Given the description of an element on the screen output the (x, y) to click on. 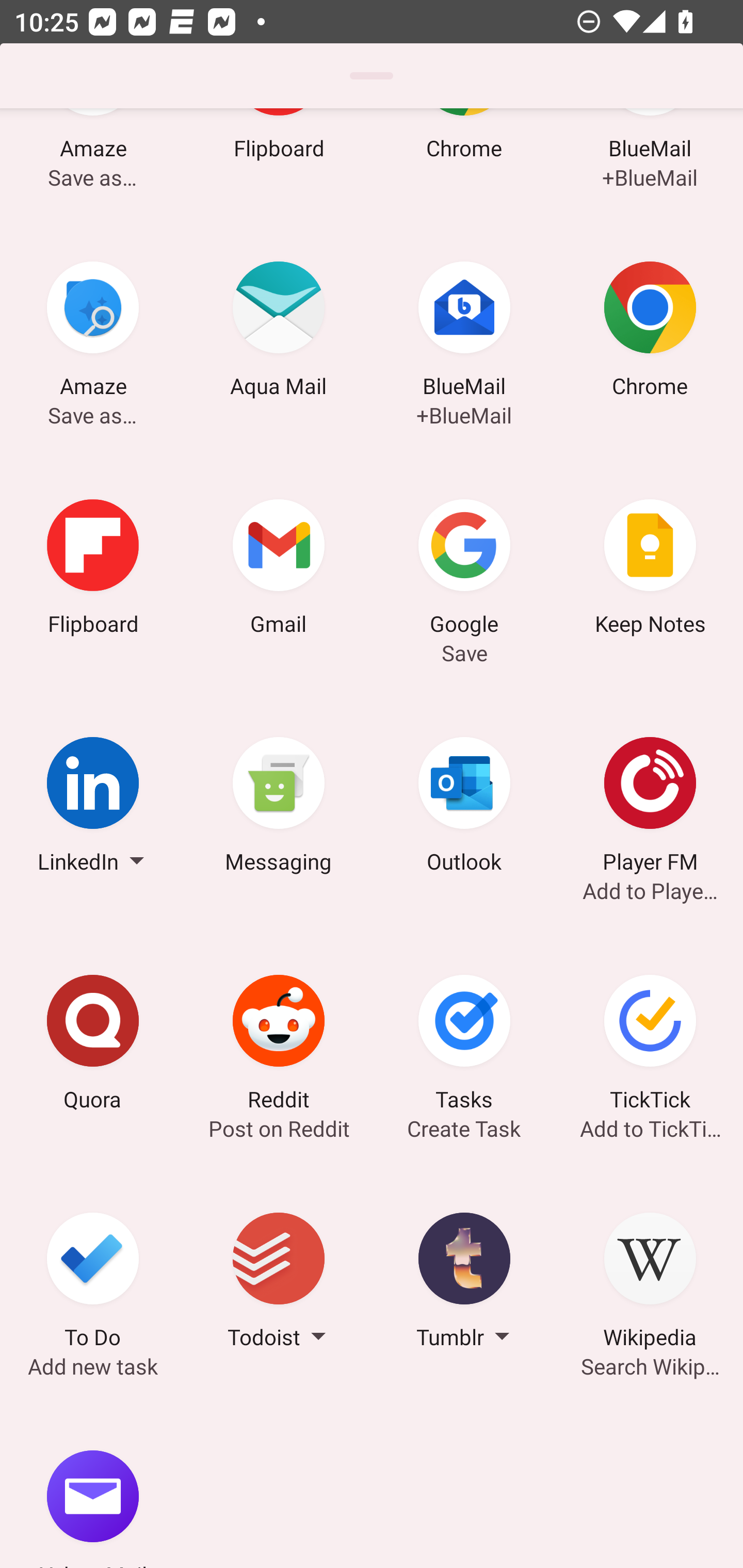
Amaze Save as… (92, 332)
Aqua Mail (278, 332)
BlueMail +BlueMail (464, 332)
Chrome (650, 332)
Flipboard (92, 569)
Gmail (278, 569)
Google Save (464, 569)
Keep Notes (650, 569)
LinkedIn (92, 807)
Messaging (278, 807)
Outlook (464, 807)
Player FM Add to Player FM (650, 807)
Quora (92, 1045)
Reddit Post on Reddit (278, 1045)
Tasks Create Task (464, 1045)
TickTick Add to TickTick (650, 1045)
To Do Add new task (92, 1283)
Todoist (278, 1283)
Tumblr (464, 1283)
Wikipedia Search Wikipedia (650, 1283)
Yahoo Mail (92, 1484)
